Given the description of an element on the screen output the (x, y) to click on. 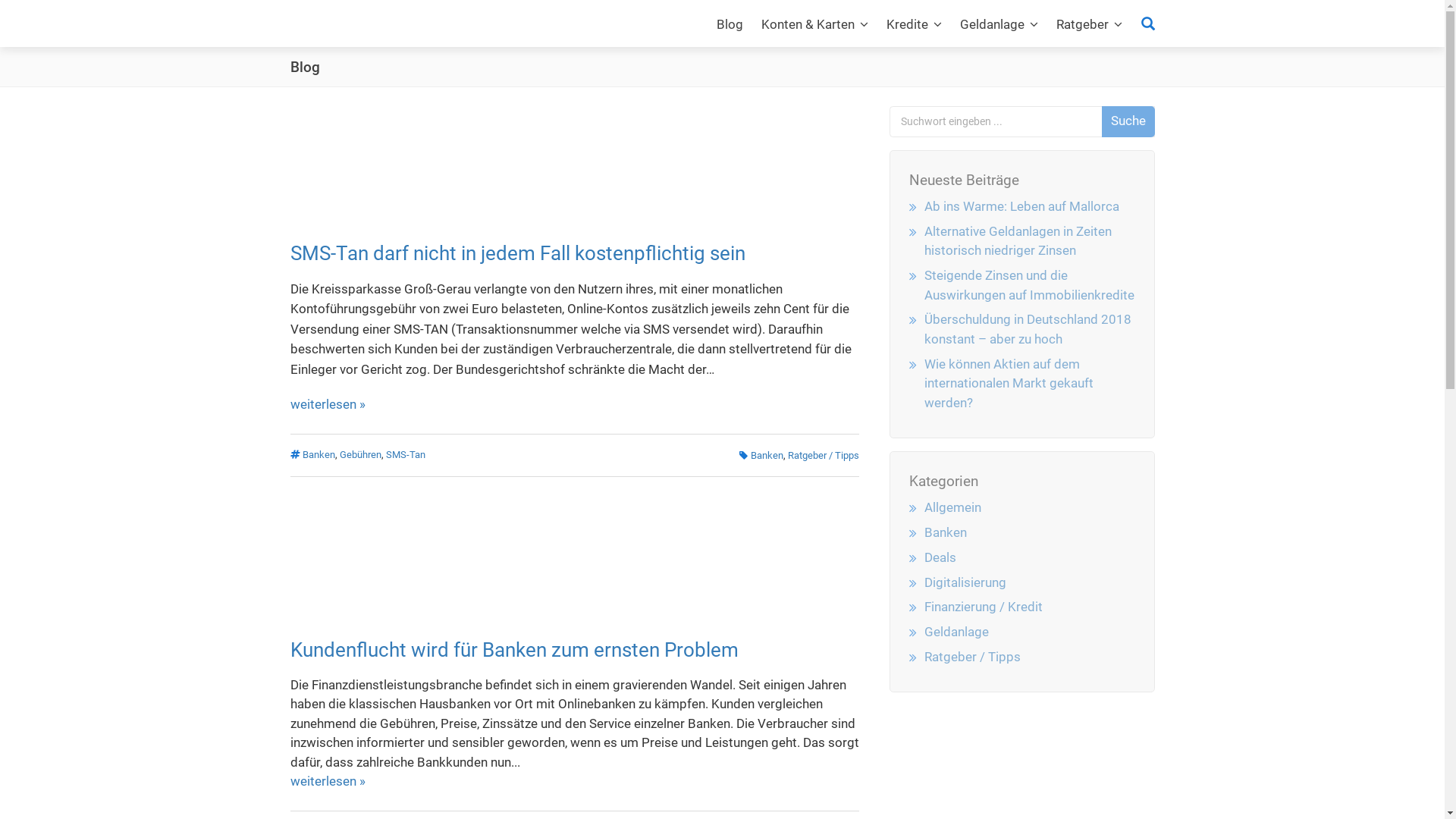
Banken Element type: text (766, 455)
Deals Element type: text (940, 556)
Allgemein Element type: text (952, 506)
Finanzierung / Kredit Element type: text (983, 606)
Suche Element type: text (1127, 121)
Digitalisierung Element type: text (965, 581)
Konten & Karten Element type: text (814, 23)
Geldanlage Element type: text (999, 23)
SMS-Tan darf nicht in jedem Fall kostenpflichtig sein Element type: text (516, 252)
SMS-Tan Element type: text (405, 454)
Blog Element type: text (304, 66)
Suchen Element type: text (1141, 22)
Steigende Zinsen und die Auswirkungen auf Immobilienkredite Element type: text (1029, 284)
Blog Element type: text (729, 23)
- Ihr cleverer und transparenter Finanzvergleich Element type: text (384, 22)
SMS-Tan darf nicht in jedem Fall kostenpflichtig sein Element type: hover (573, 162)
Kredite Element type: text (913, 23)
SMS-Tan darf nicht in jedem Fall kostenpflichtig sein Element type: hover (573, 161)
Banken Element type: text (945, 531)
Banken Element type: text (318, 454)
Ratgeber / Tipps Element type: text (822, 455)
Geldanlage Element type: text (956, 631)
Ratgeber Element type: text (1089, 23)
Ratgeber / Tipps Element type: text (972, 656)
Ab ins Warme: Leben auf Mallorca Element type: text (1021, 205)
